Given the description of an element on the screen output the (x, y) to click on. 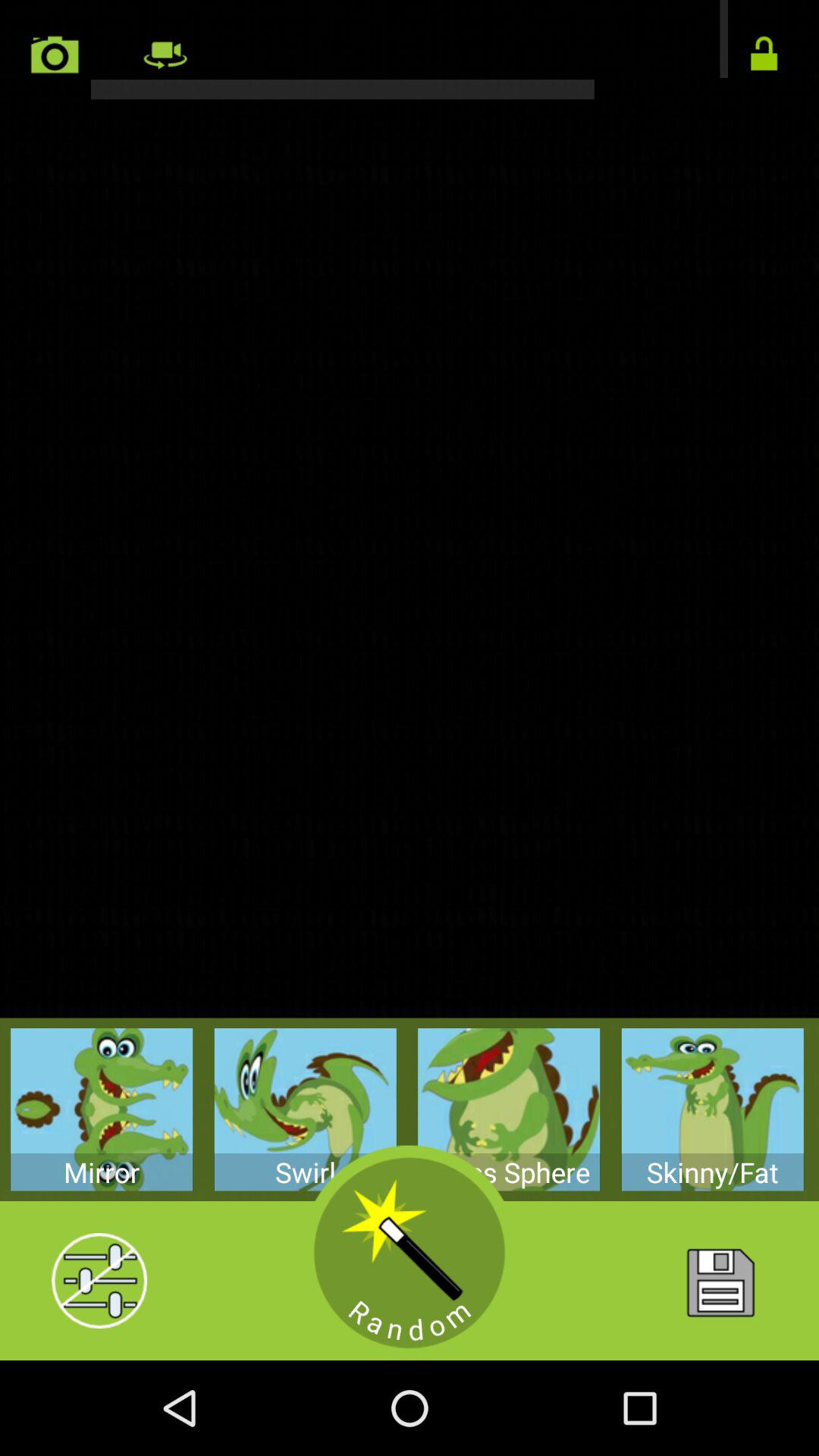
turn on the item at the top right corner (764, 54)
